Given the description of an element on the screen output the (x, y) to click on. 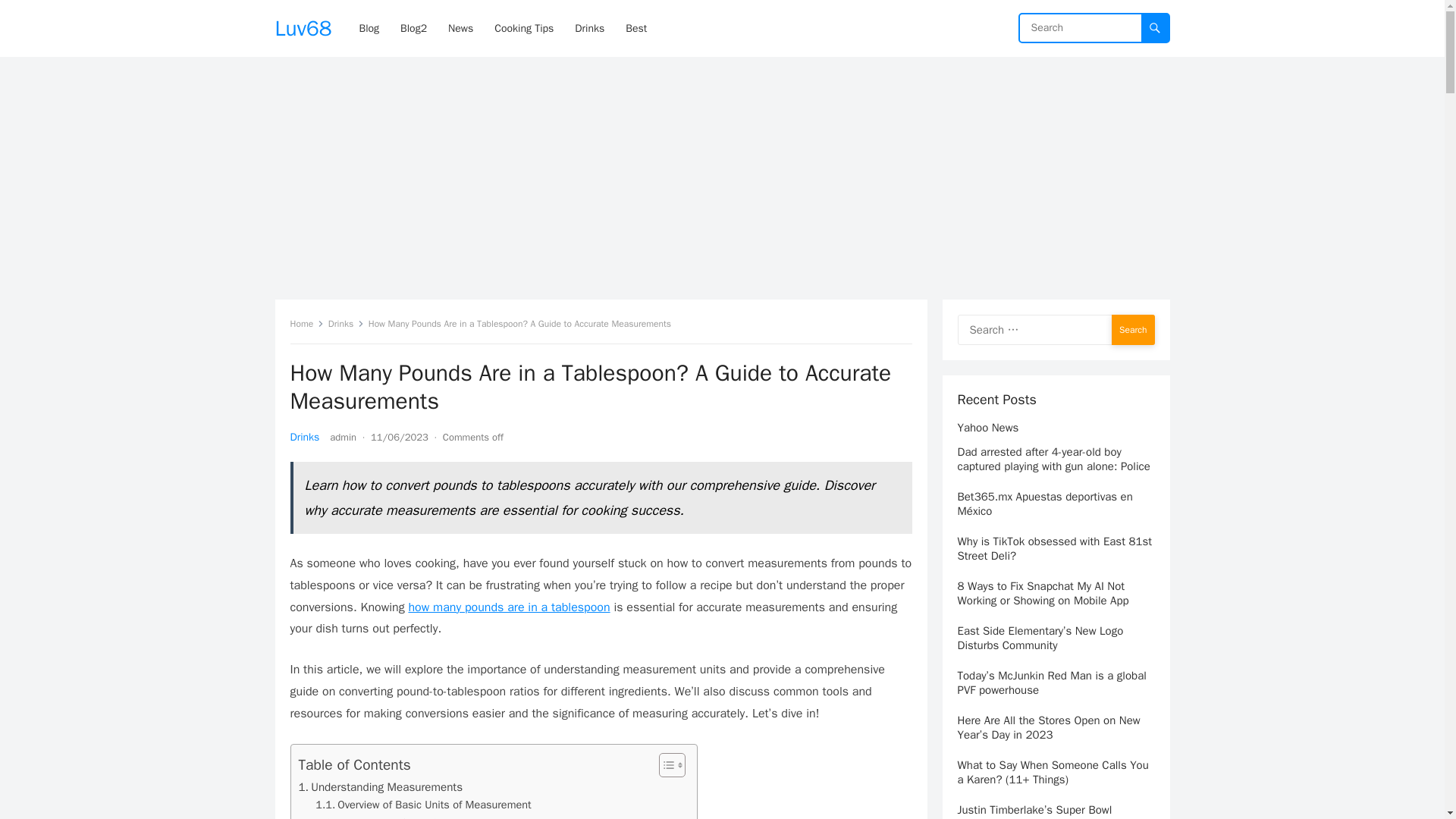
how many pounds are in a tablespoon (508, 607)
Overview of Basic Units of Measurement (423, 805)
Cooking Tips (523, 28)
Drinks (303, 436)
Explanation of Why Conversions Between Units Are Necessary (474, 816)
Explanation of Why Conversions Between Units Are Necessary (474, 816)
Search (1133, 329)
Search (1133, 329)
Overview of Basic Units of Measurement (423, 805)
